Given the description of an element on the screen output the (x, y) to click on. 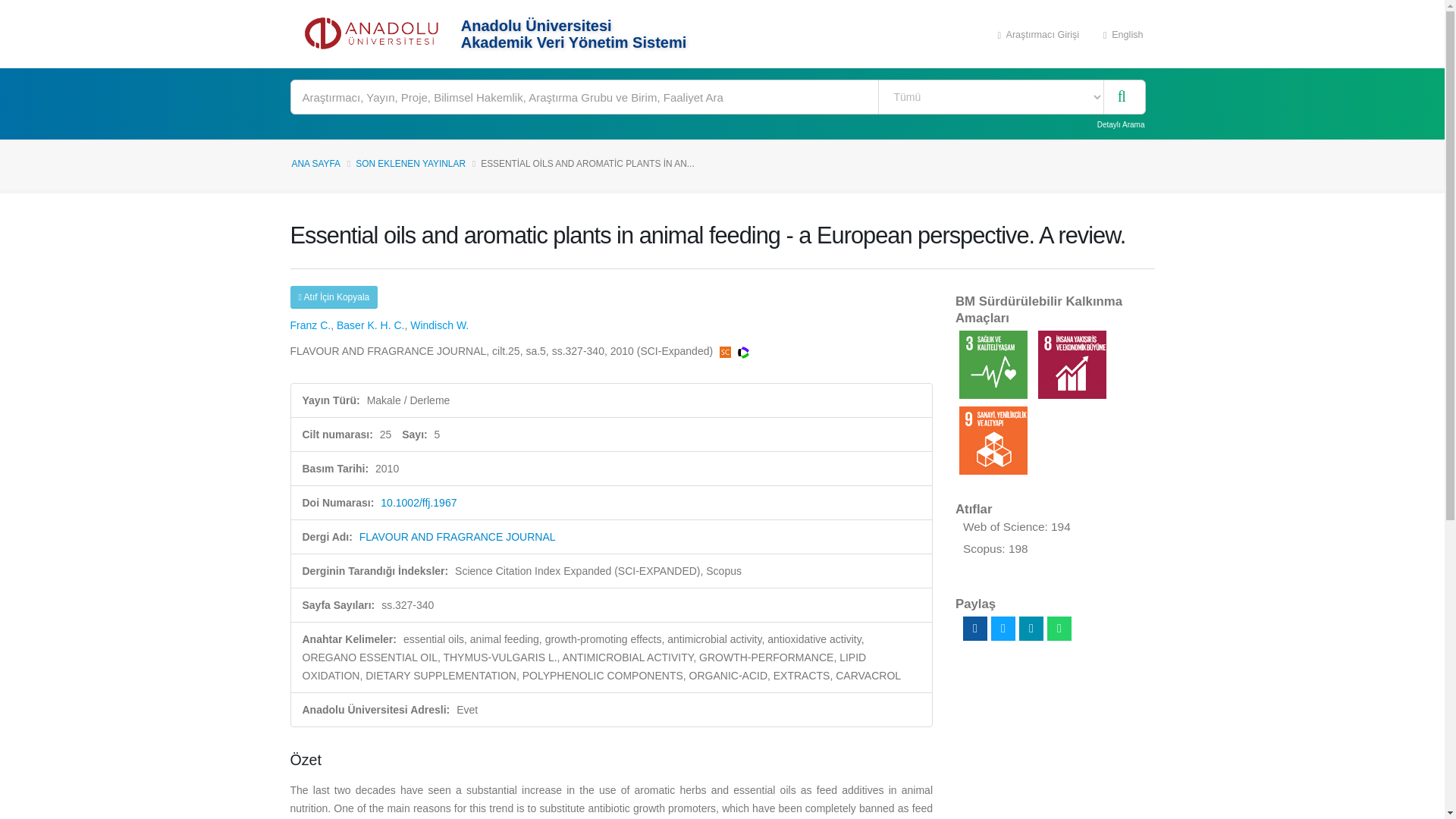
SON EKLENEN YAYINLAR (410, 163)
English (1123, 33)
K. H. C. Baser (370, 325)
W. Windisch (439, 325)
ANA SAYFA (315, 163)
FLAVOUR AND FRAGRANCE JOURNAL (457, 536)
Franz C. (309, 325)
Baser K. H. C. (370, 325)
C. Franz (309, 325)
Windisch W. (439, 325)
